Given the description of an element on the screen output the (x, y) to click on. 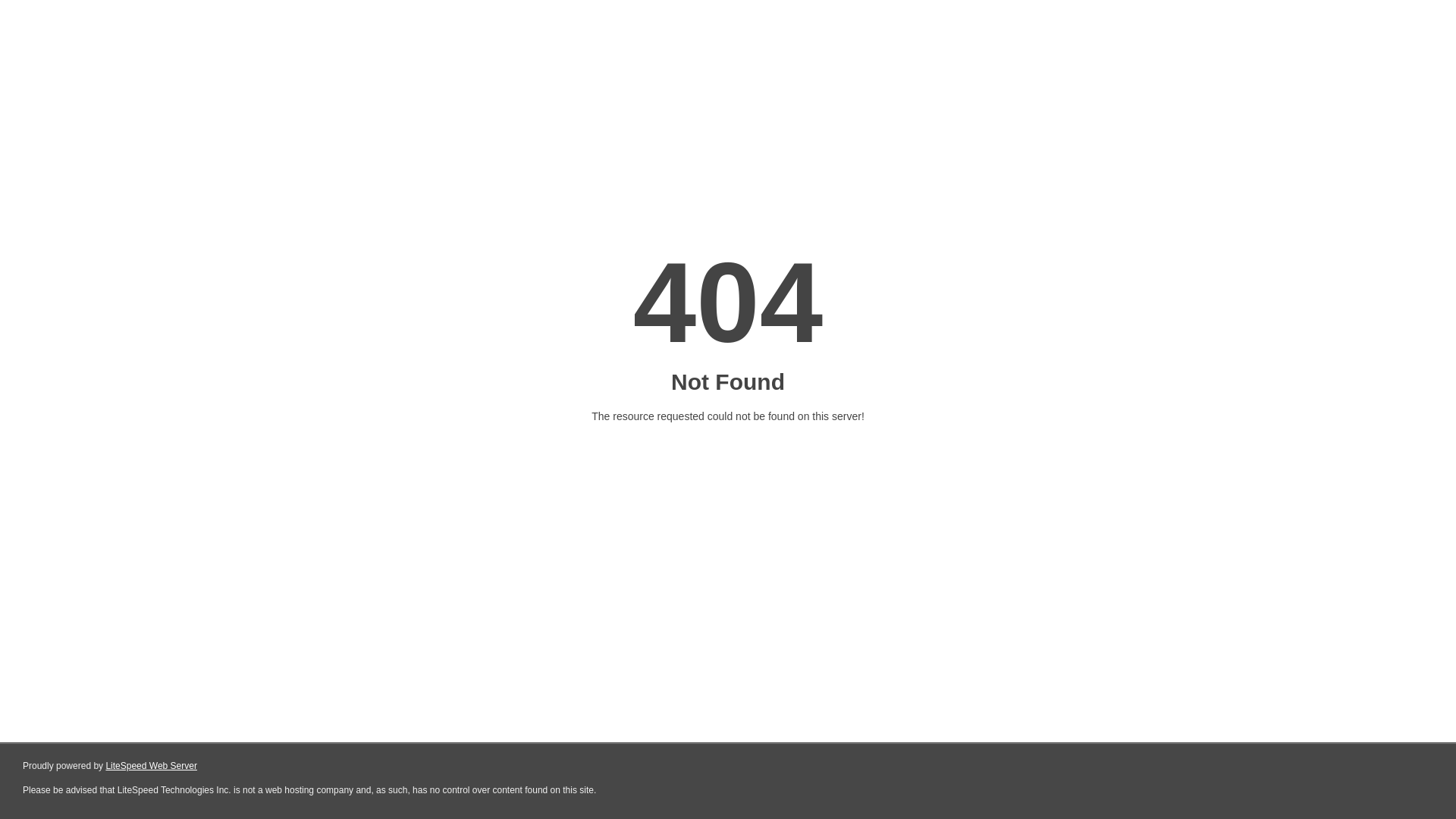
LiteSpeed Web Server Element type: text (151, 765)
